Given the description of an element on the screen output the (x, y) to click on. 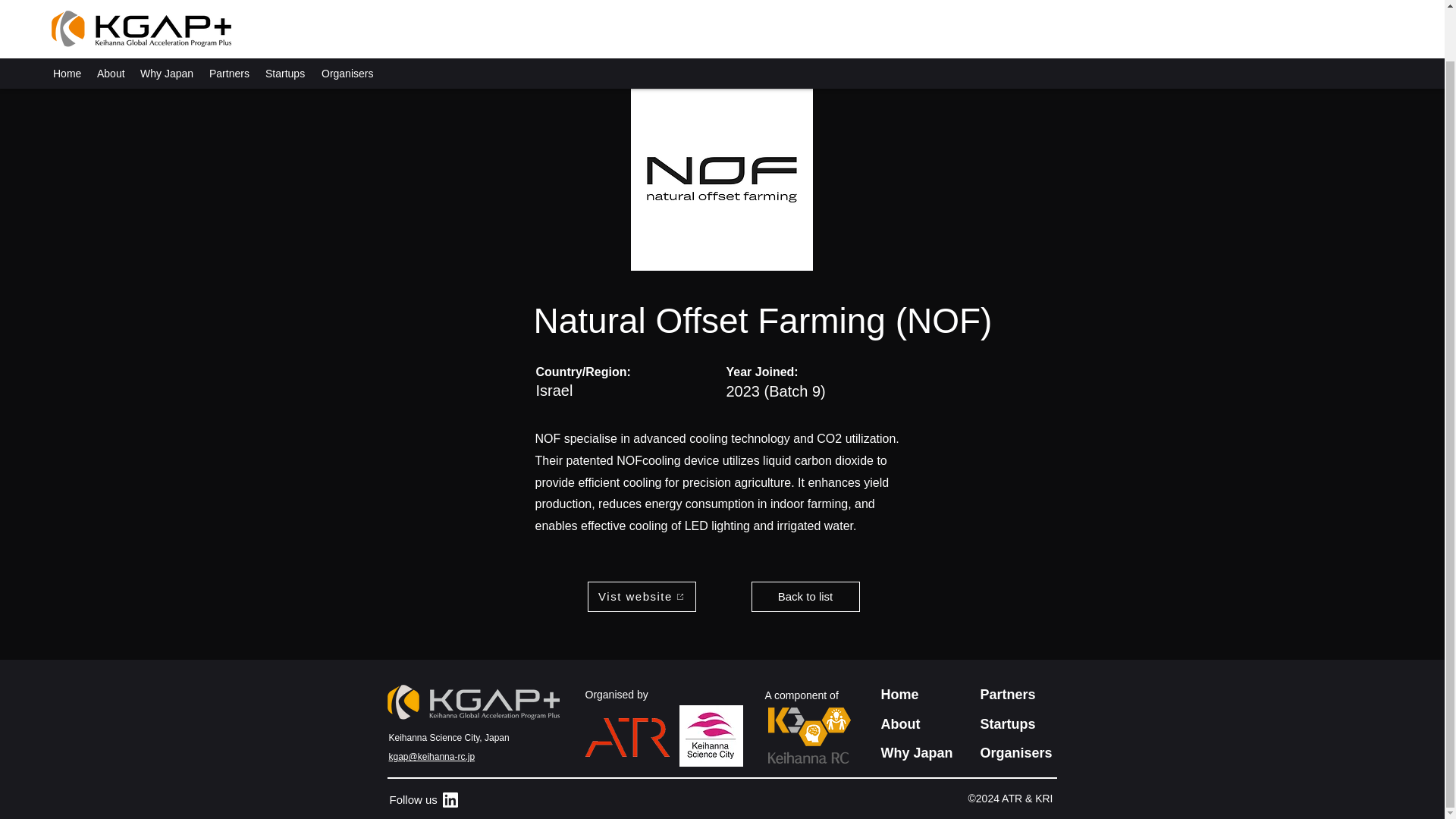
Why Japan (167, 17)
About (110, 17)
Startups (1007, 724)
Home (899, 694)
Vist website (640, 596)
Home (66, 17)
Back to list (805, 596)
Organisers (347, 17)
Startups (285, 17)
About (900, 724)
Why Japan (916, 752)
Partners (229, 17)
Organisers (1015, 752)
Partners (1007, 694)
